Given the description of an element on the screen output the (x, y) to click on. 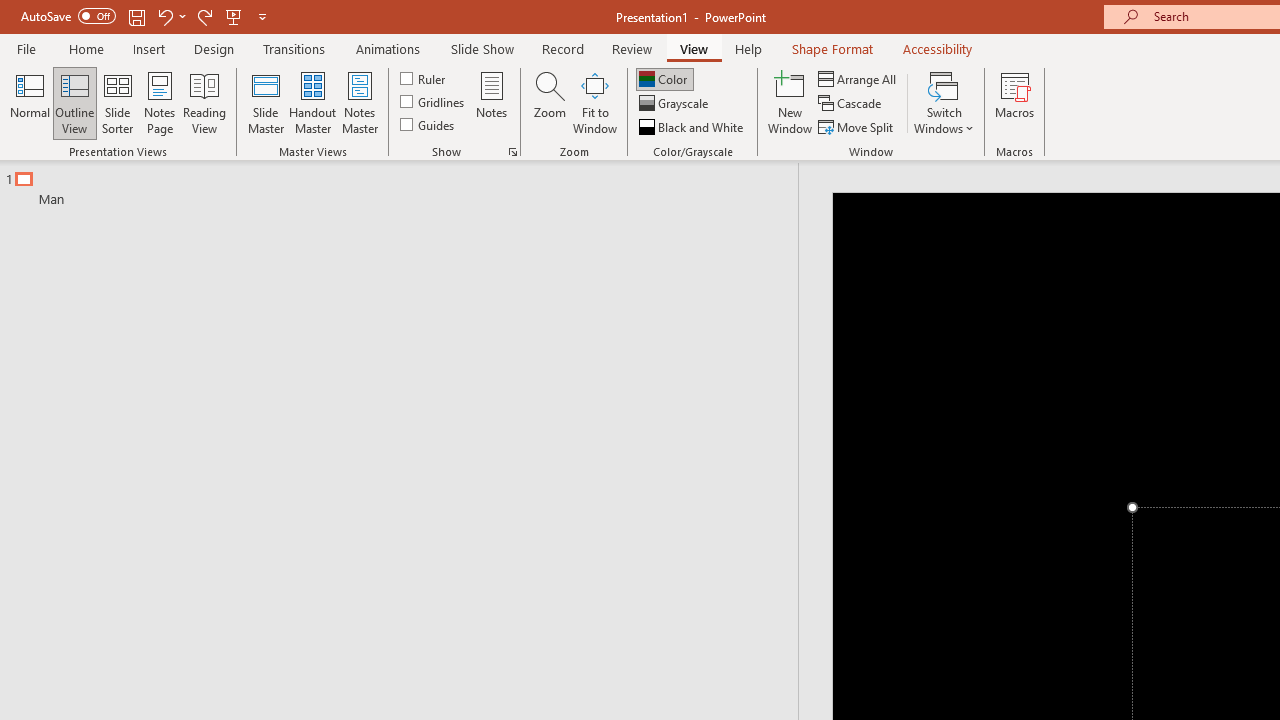
Switch Windows (943, 102)
Outline View (74, 102)
Macros (1014, 102)
Notes Page (159, 102)
Grid Settings... (512, 151)
Ruler (423, 78)
Color (664, 78)
Slide Master (265, 102)
